Given the description of an element on the screen output the (x, y) to click on. 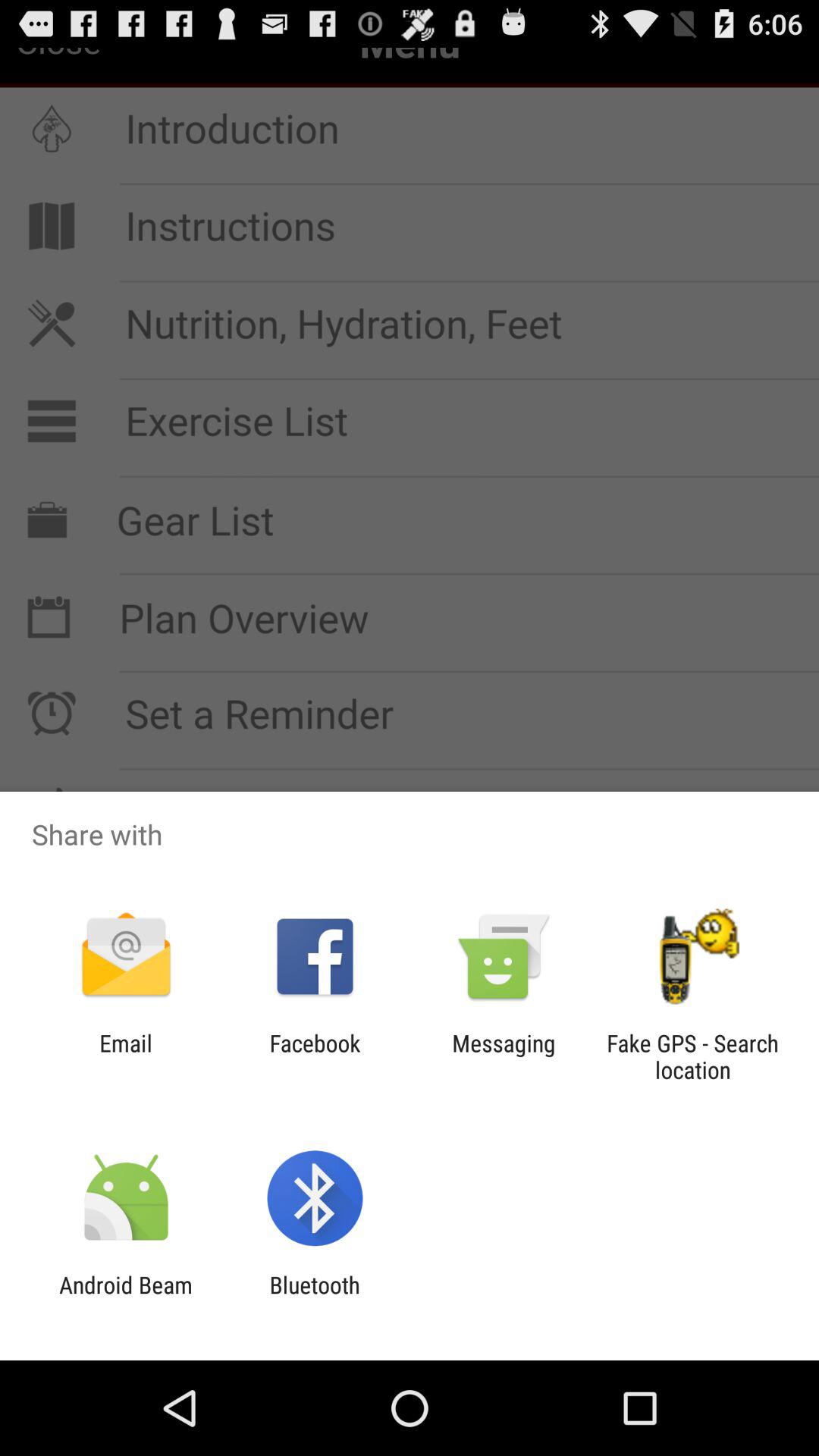
launch icon next to the messaging icon (314, 1056)
